Given the description of an element on the screen output the (x, y) to click on. 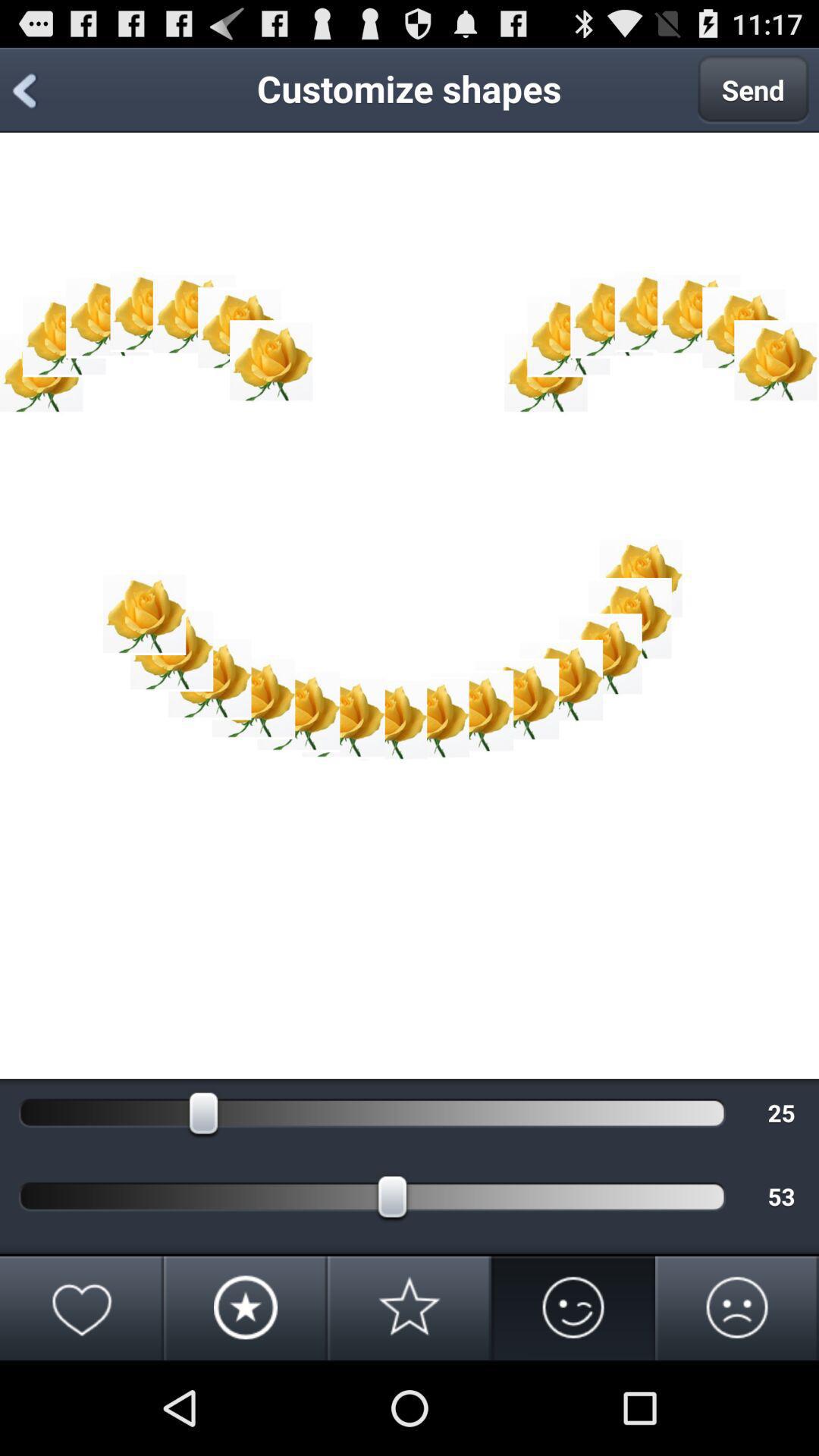
launch the icon next to the customize shapes (752, 90)
